Given the description of an element on the screen output the (x, y) to click on. 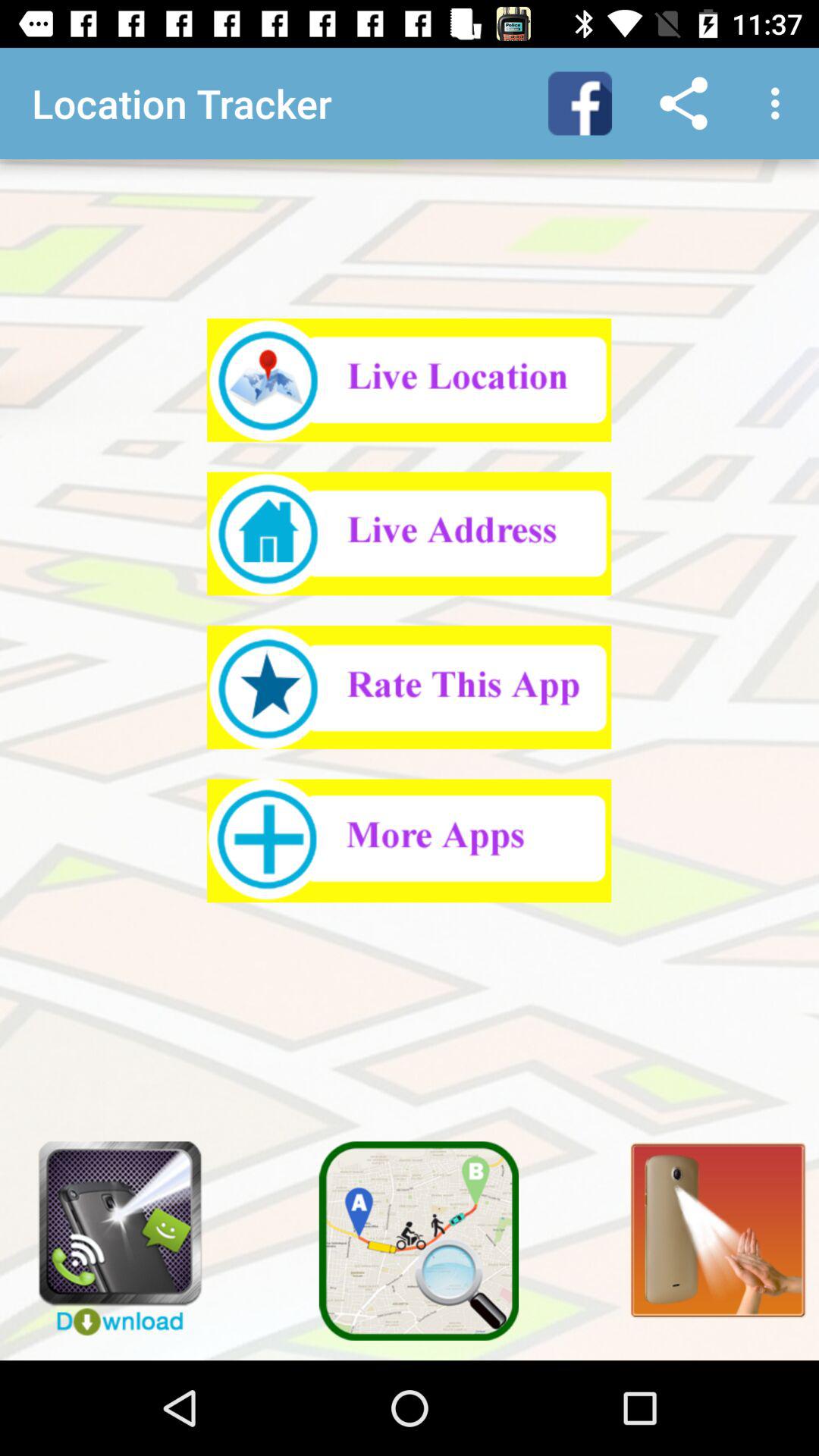
the highlighted area wants people to rate the app (409, 687)
